Given the description of an element on the screen output the (x, y) to click on. 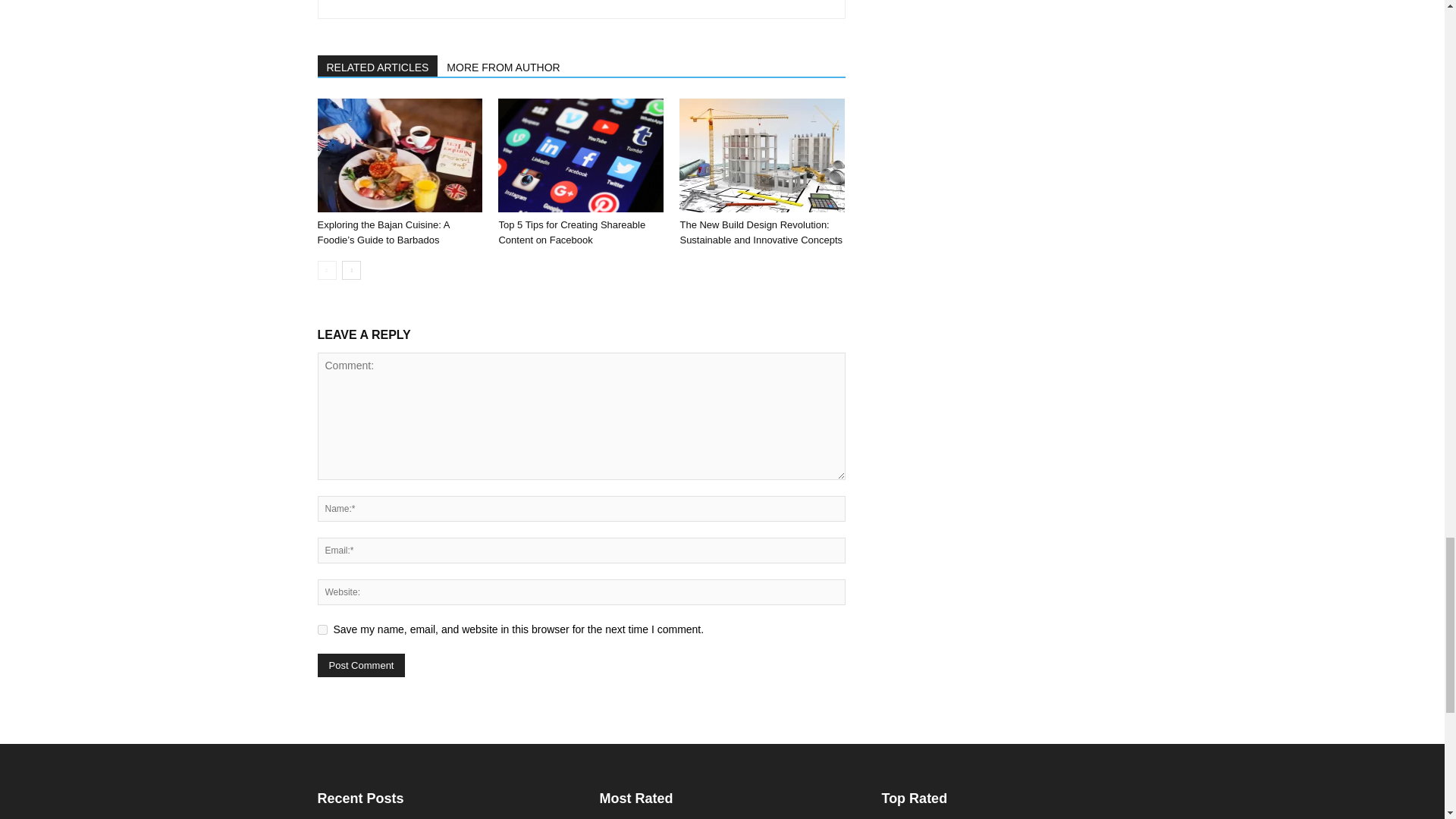
Post Comment (360, 665)
yes (321, 629)
